Given the description of an element on the screen output the (x, y) to click on. 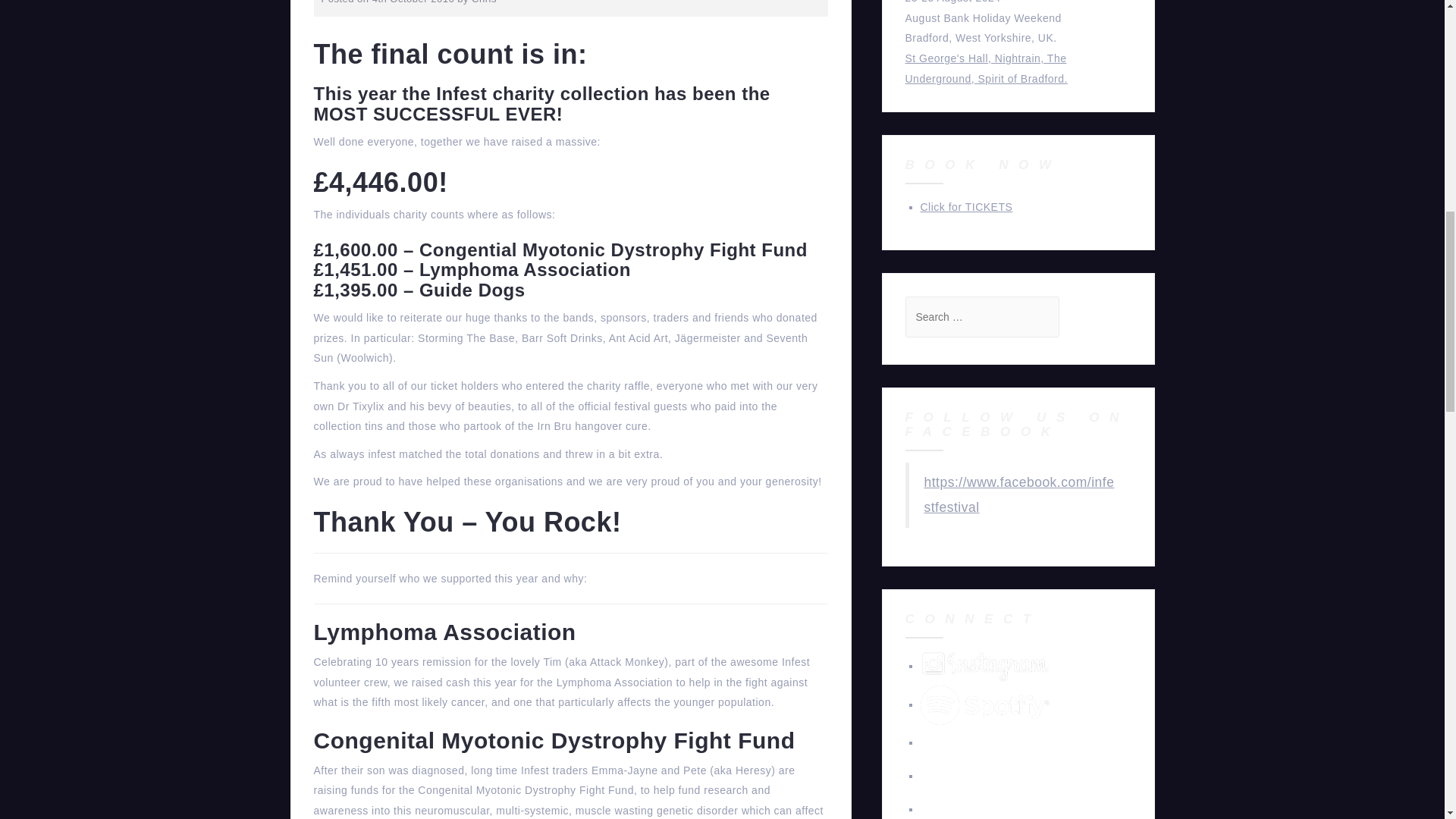
4th October 2016 (413, 2)
Click for TICKETS (966, 206)
Chris (483, 2)
